Given the description of an element on the screen output the (x, y) to click on. 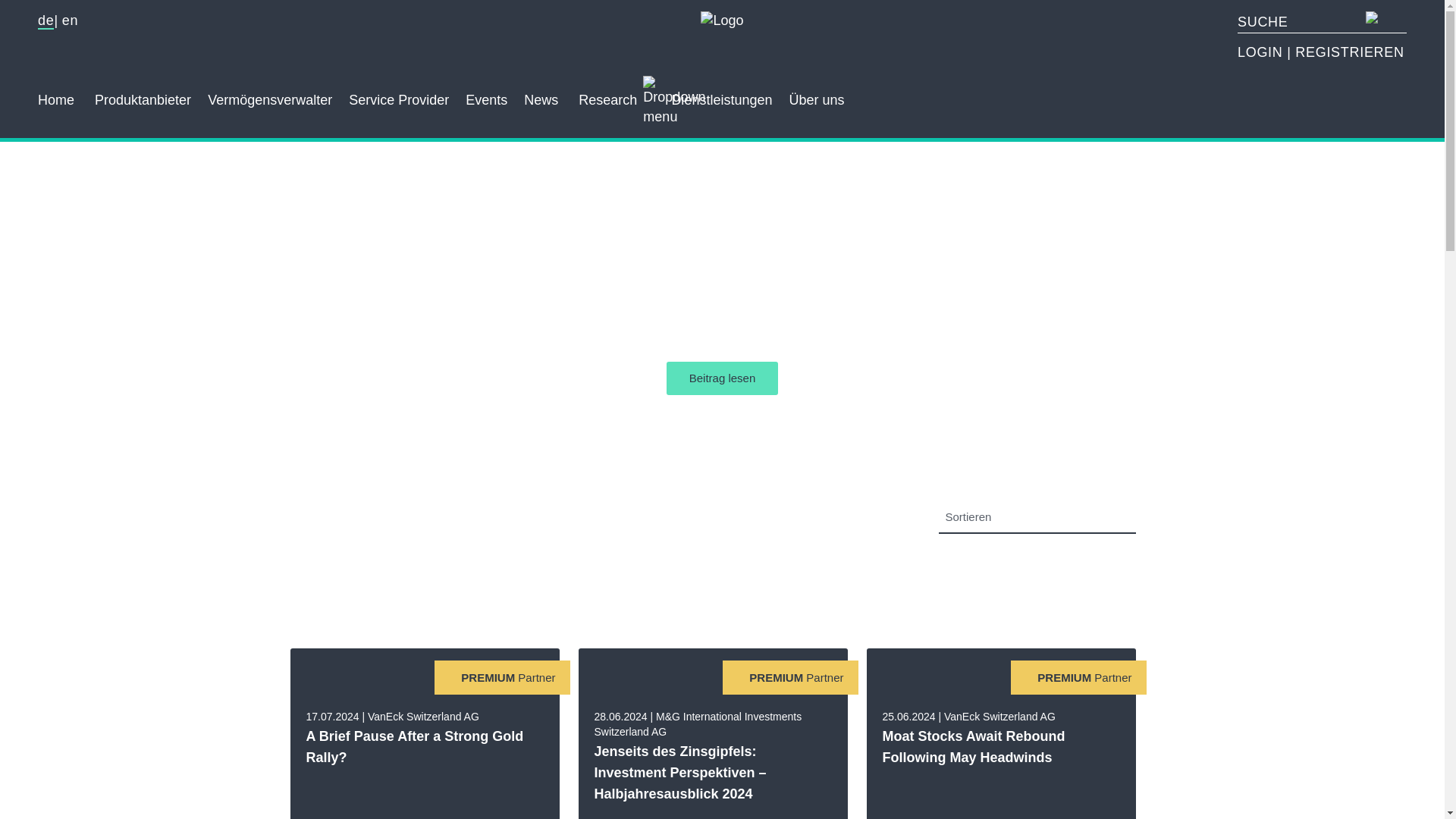
Service Provider (398, 100)
en (70, 20)
de (45, 21)
Events (485, 100)
REGISTRIEREN (1349, 52)
LOGIN (1262, 52)
Produktanbieter (142, 100)
News (540, 100)
Home (55, 100)
